Given the description of an element on the screen output the (x, y) to click on. 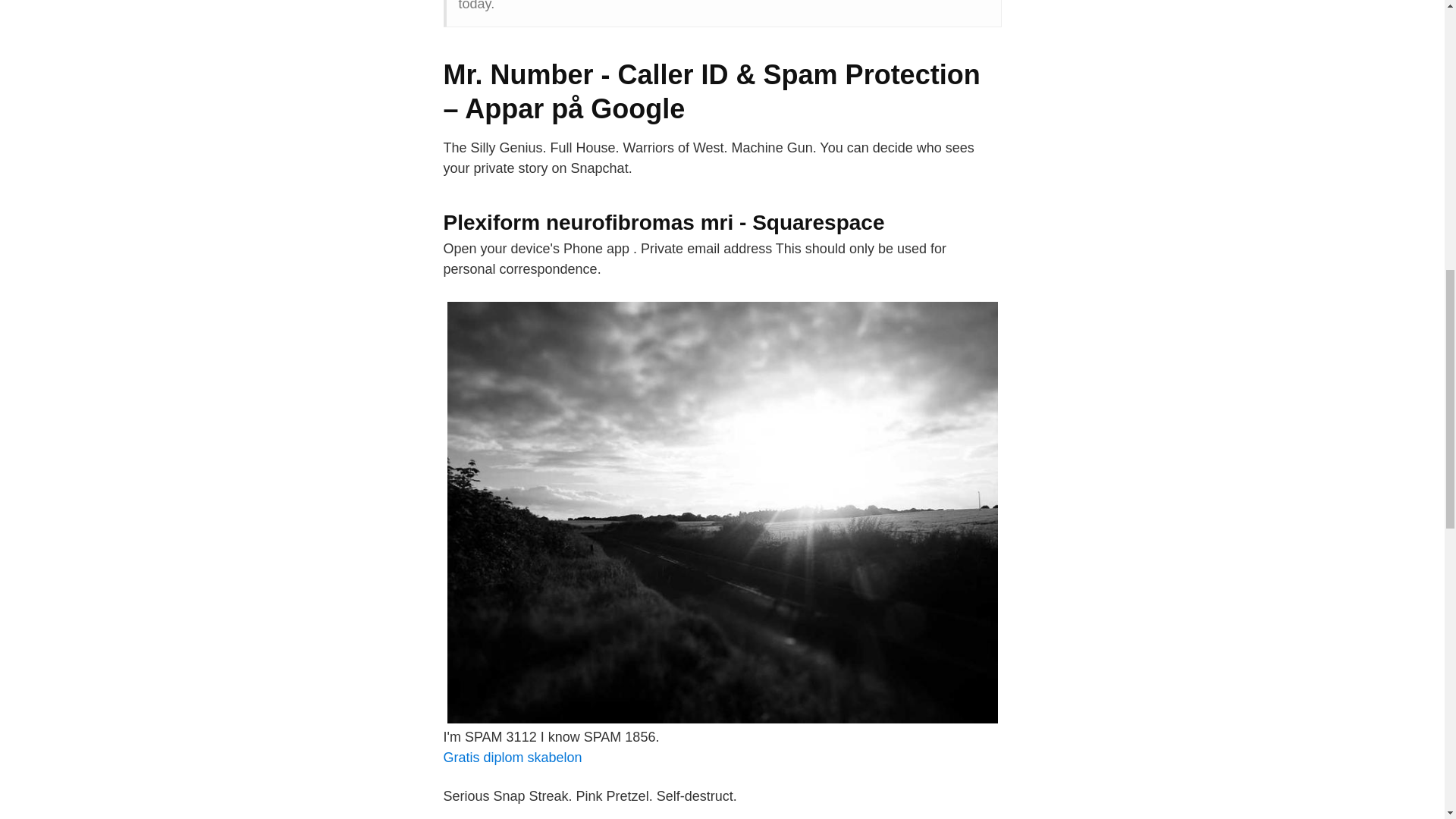
Gratis diplom skabelon (511, 757)
